Given the description of an element on the screen output the (x, y) to click on. 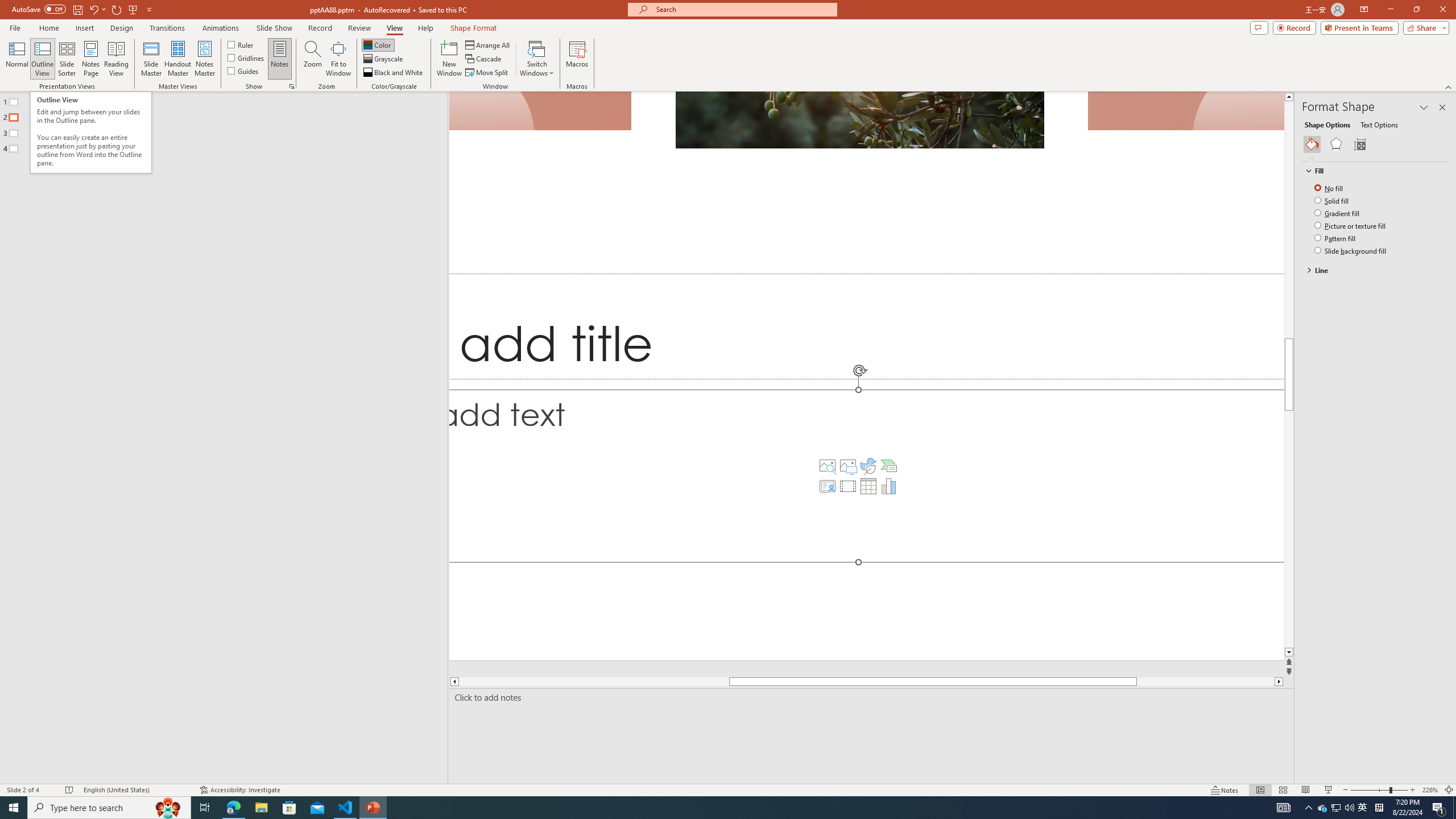
New Window (449, 58)
Notes (279, 58)
Black and White (393, 72)
Shape Options (1327, 124)
Color (377, 44)
Content Placeholder (866, 475)
